Given the description of an element on the screen output the (x, y) to click on. 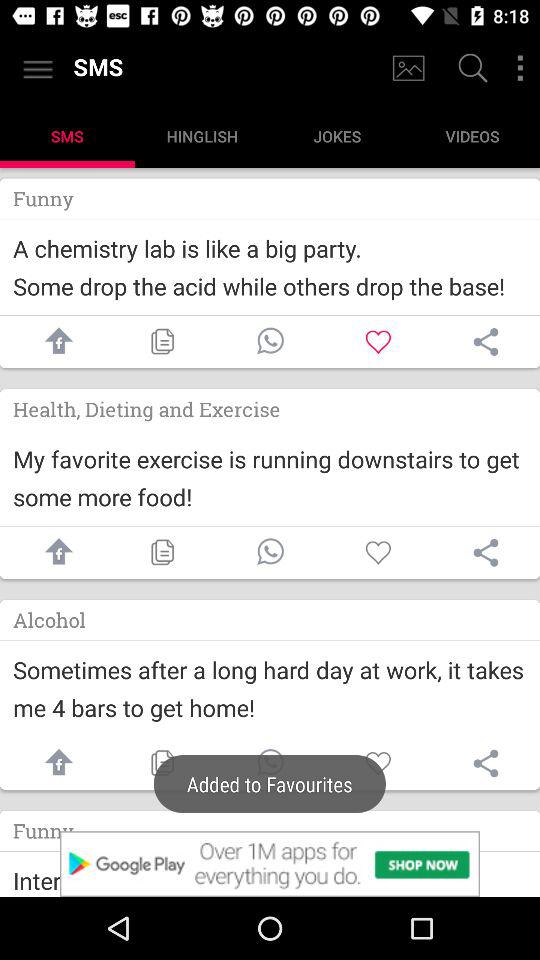
share on facebook (54, 552)
